Given the description of an element on the screen output the (x, y) to click on. 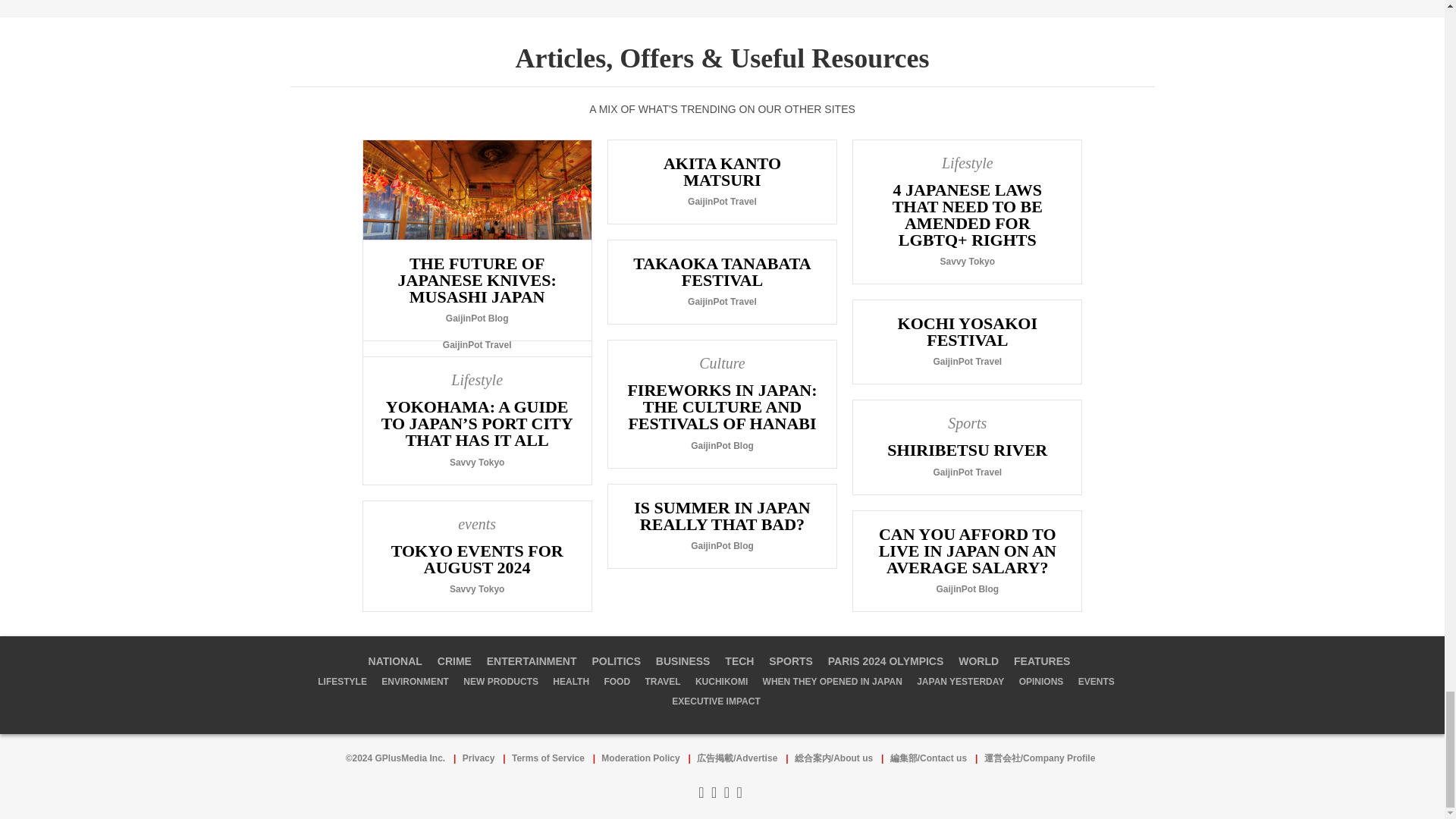
Akita Kanto Matsuri (721, 180)
Hirosaki Neputa Festival (476, 252)
